Given the description of an element on the screen output the (x, y) to click on. 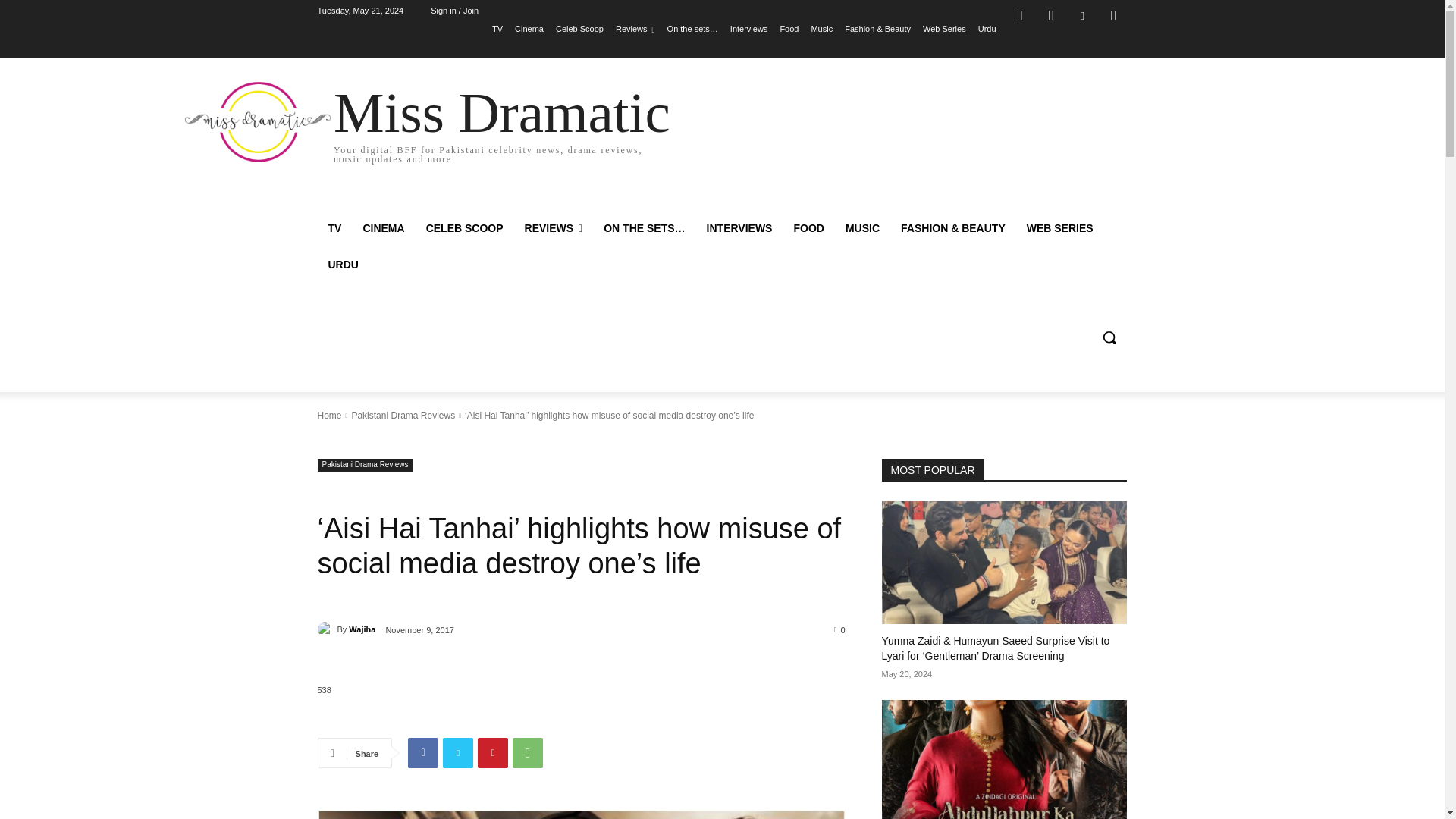
Food (787, 28)
Celeb Scoop (580, 28)
Reviews (635, 28)
Aise Hai Tanhai - ARY DIGITAL (580, 814)
WhatsApp (527, 752)
Cinema (529, 28)
Music (821, 28)
Pinterest (492, 752)
Web Series (944, 28)
View all posts in Pakistani Drama Reviews (402, 415)
CINEMA (383, 227)
Facebook (1019, 14)
Instagram (1050, 14)
Youtube (1112, 14)
